Given the description of an element on the screen output the (x, y) to click on. 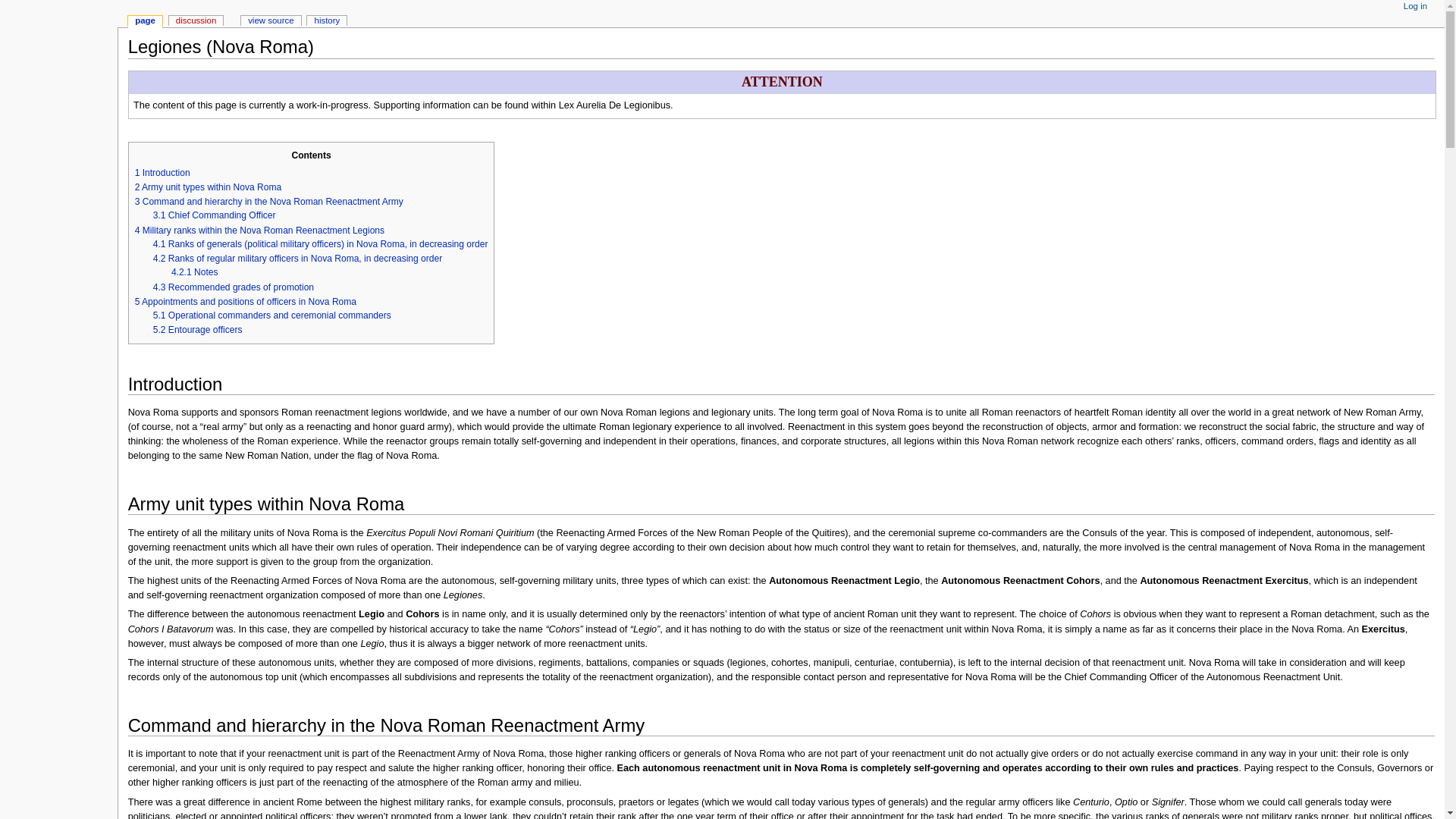
page (144, 21)
1 Introduction (162, 172)
history (326, 21)
Log in (1414, 6)
5 Appointments and positions of officers in Nova Roma (245, 301)
3 Command and hierarchy in the Nova Roman Reenactment Army (269, 201)
2 Army unit types within Nova Roma (208, 186)
4.2.1 Notes (194, 271)
5.2 Entourage officers (197, 329)
5.1 Operational commanders and ceremonial commanders (271, 315)
4 Military ranks within the Nova Roman Reenactment Legions (259, 230)
4.3 Recommended grades of promotion (233, 286)
view source (271, 21)
Visit the main page (58, 58)
